Given the description of an element on the screen output the (x, y) to click on. 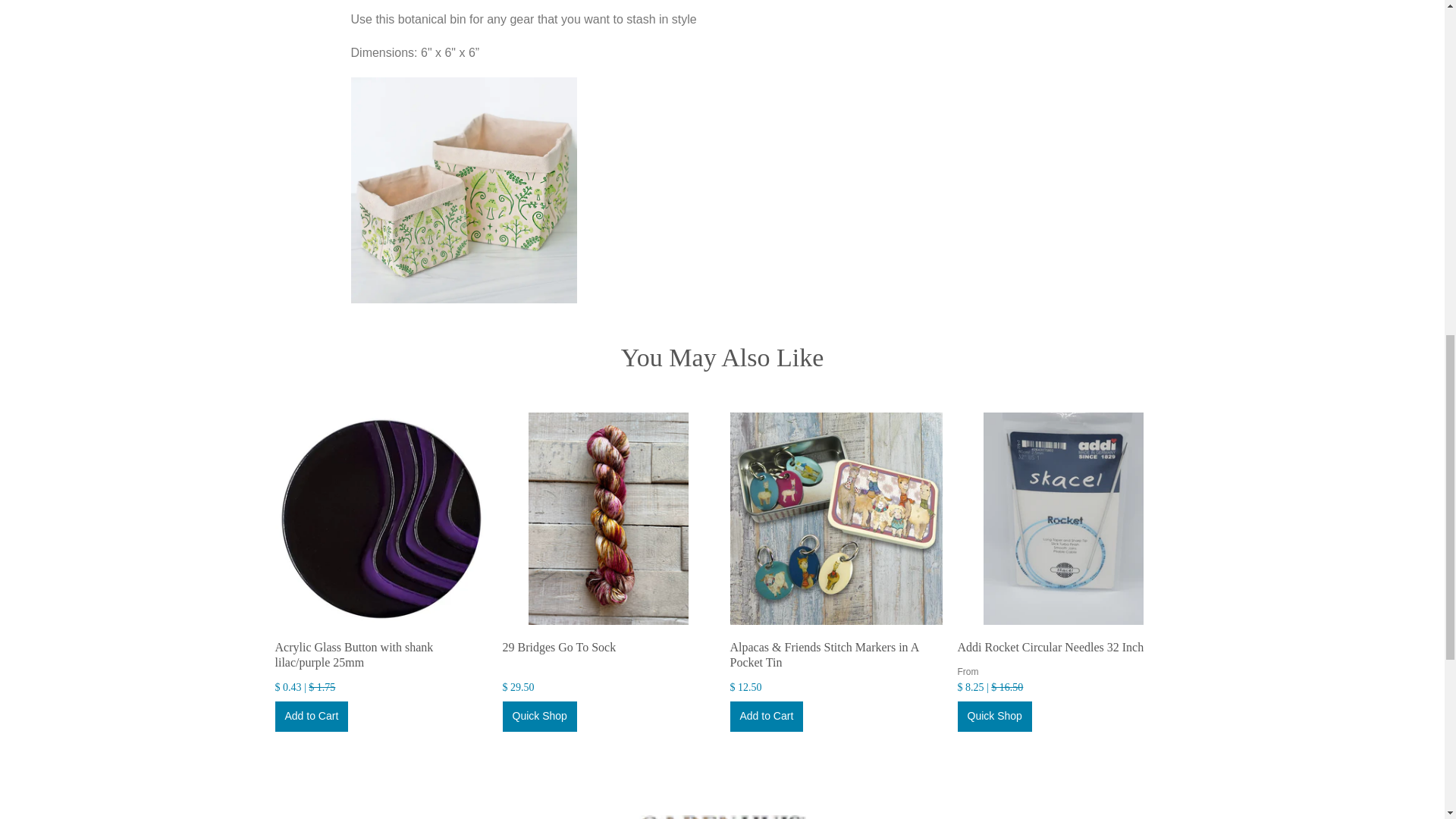
Add to Cart (311, 716)
Add to Cart (766, 716)
